Given the description of an element on the screen output the (x, y) to click on. 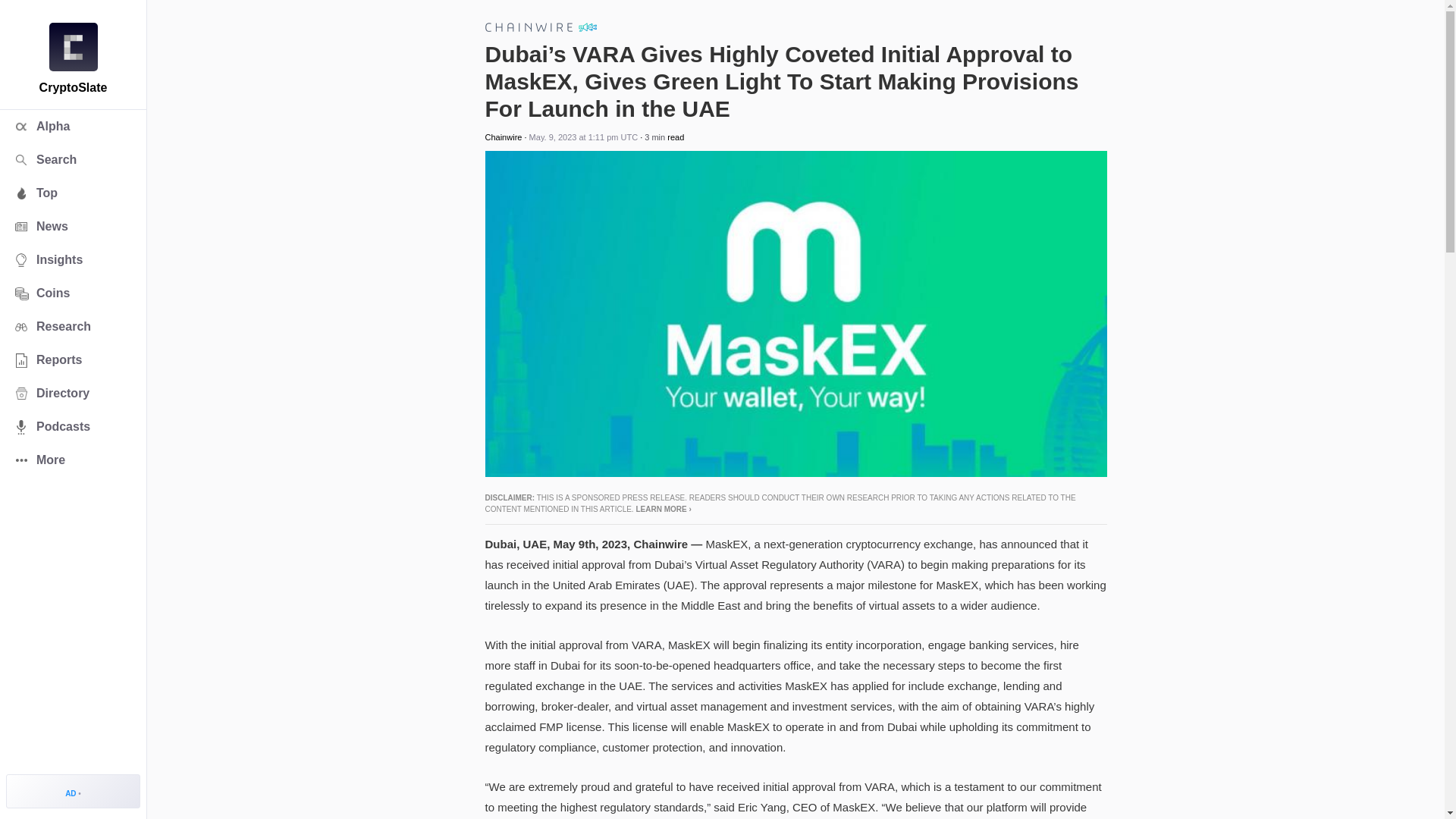
Directory (73, 393)
Insights (73, 259)
Alpha (73, 126)
Research (73, 326)
Reports (73, 359)
Coins (73, 293)
CryptoSlate (72, 46)
News (73, 226)
Top (73, 192)
AD (72, 790)
